Given the description of an element on the screen output the (x, y) to click on. 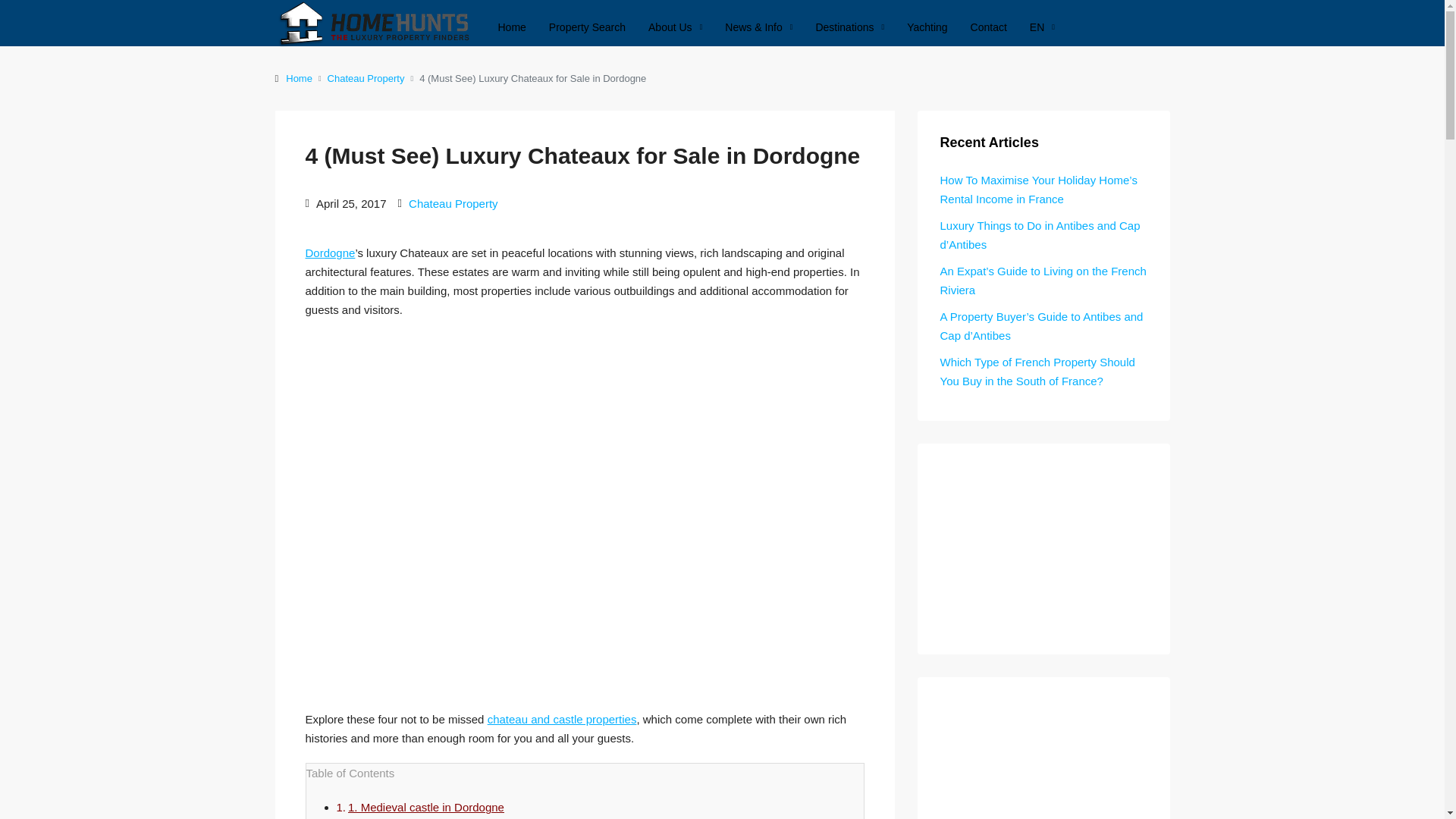
1. Medieval castle in Dordogne (425, 806)
